Given the description of an element on the screen output the (x, y) to click on. 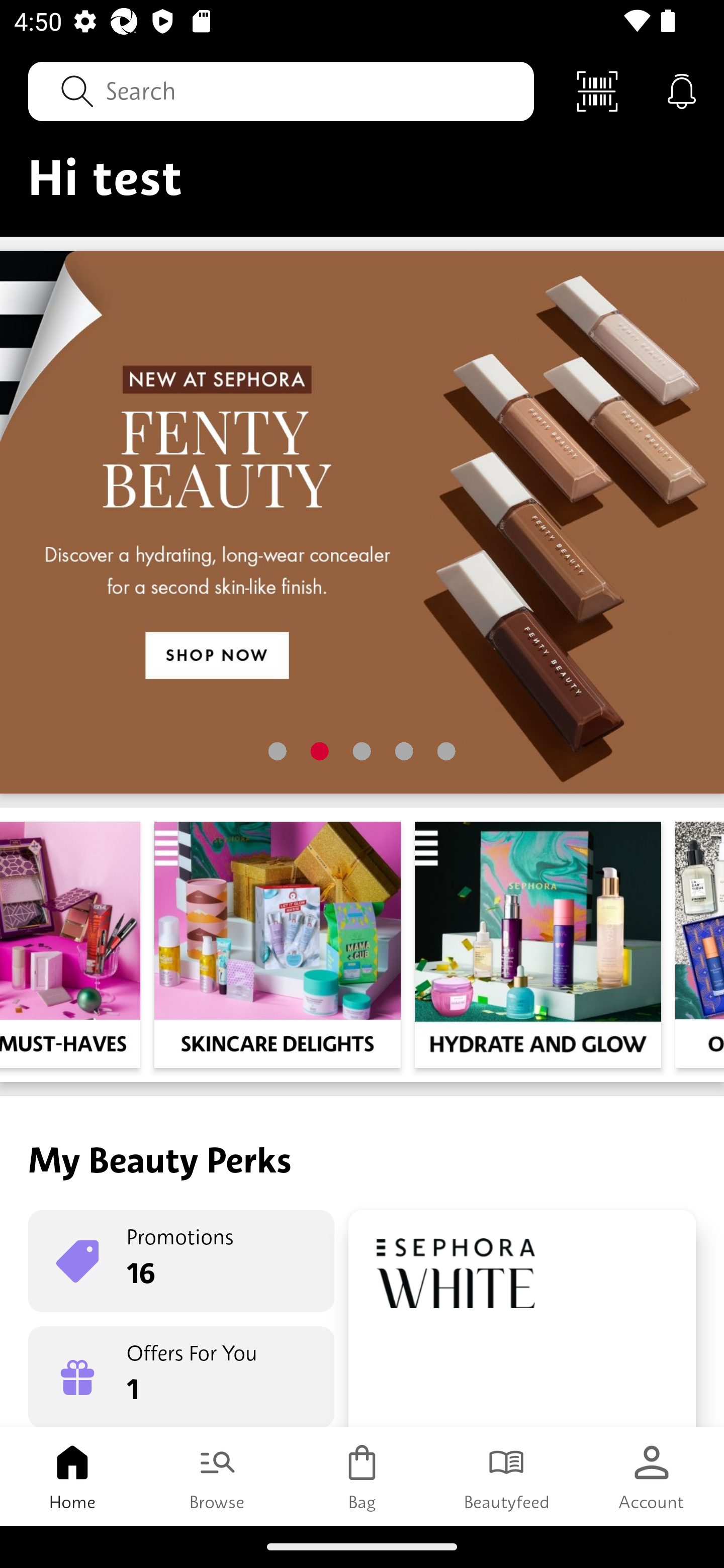
Scan Code (597, 90)
Notifications (681, 90)
Search (281, 90)
Promotions 16 (181, 1261)
Rewards Boutique 90 Pts (521, 1318)
Offers For You 1 (181, 1376)
Browse (216, 1475)
Bag (361, 1475)
Beautyfeed (506, 1475)
Account (651, 1475)
